Given the description of an element on the screen output the (x, y) to click on. 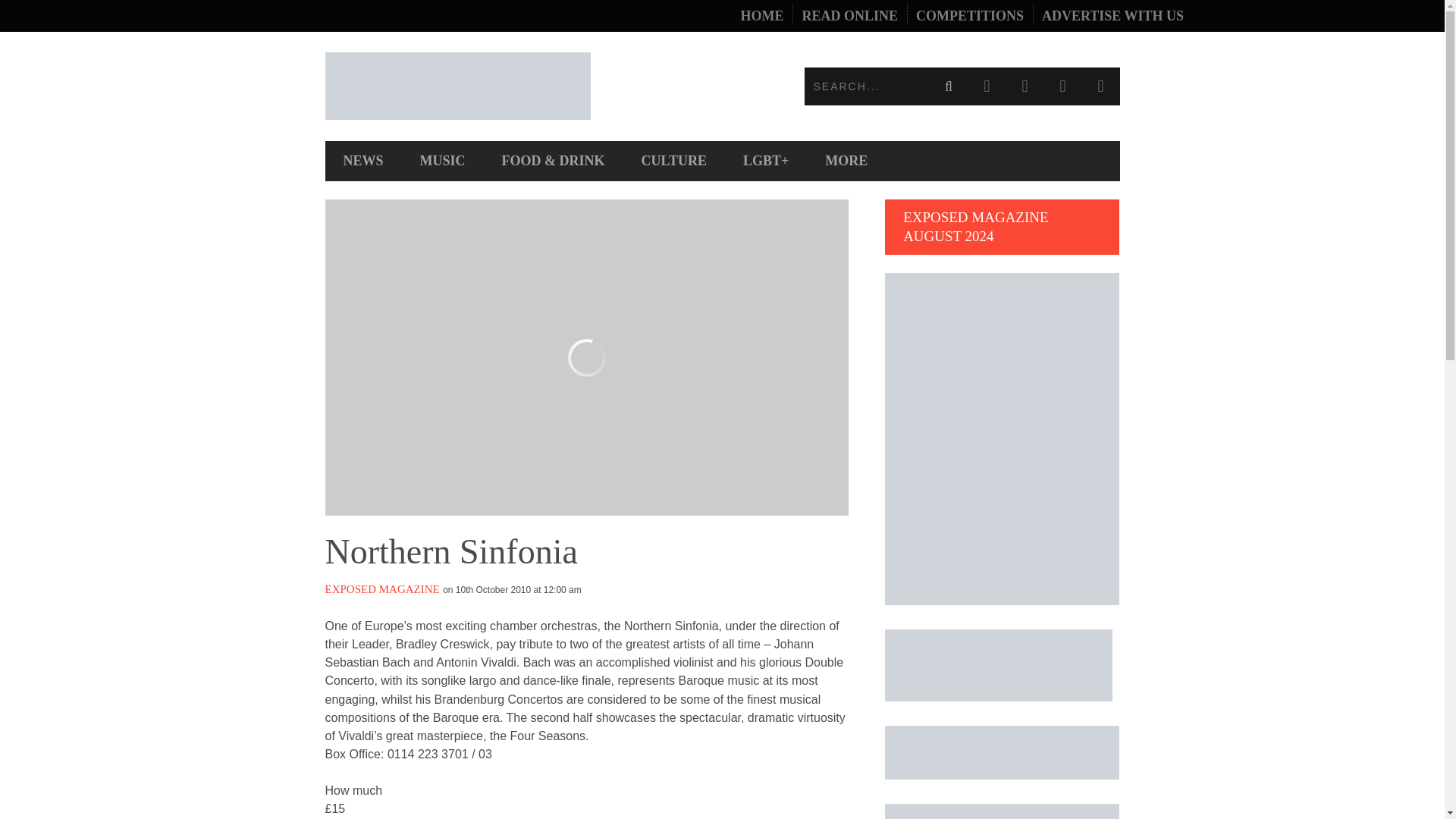
READ ONLINE (849, 15)
NEWS (362, 161)
MORE (845, 161)
Exposed Magazine (523, 85)
CULTURE (674, 161)
HOME (761, 15)
Exposed Magazine August 2024 (1002, 601)
MUSIC (442, 161)
COMPETITIONS (969, 15)
ADVERTISE WITH US (1112, 15)
Posts by Exposed Magazine (381, 589)
